Given the description of an element on the screen output the (x, y) to click on. 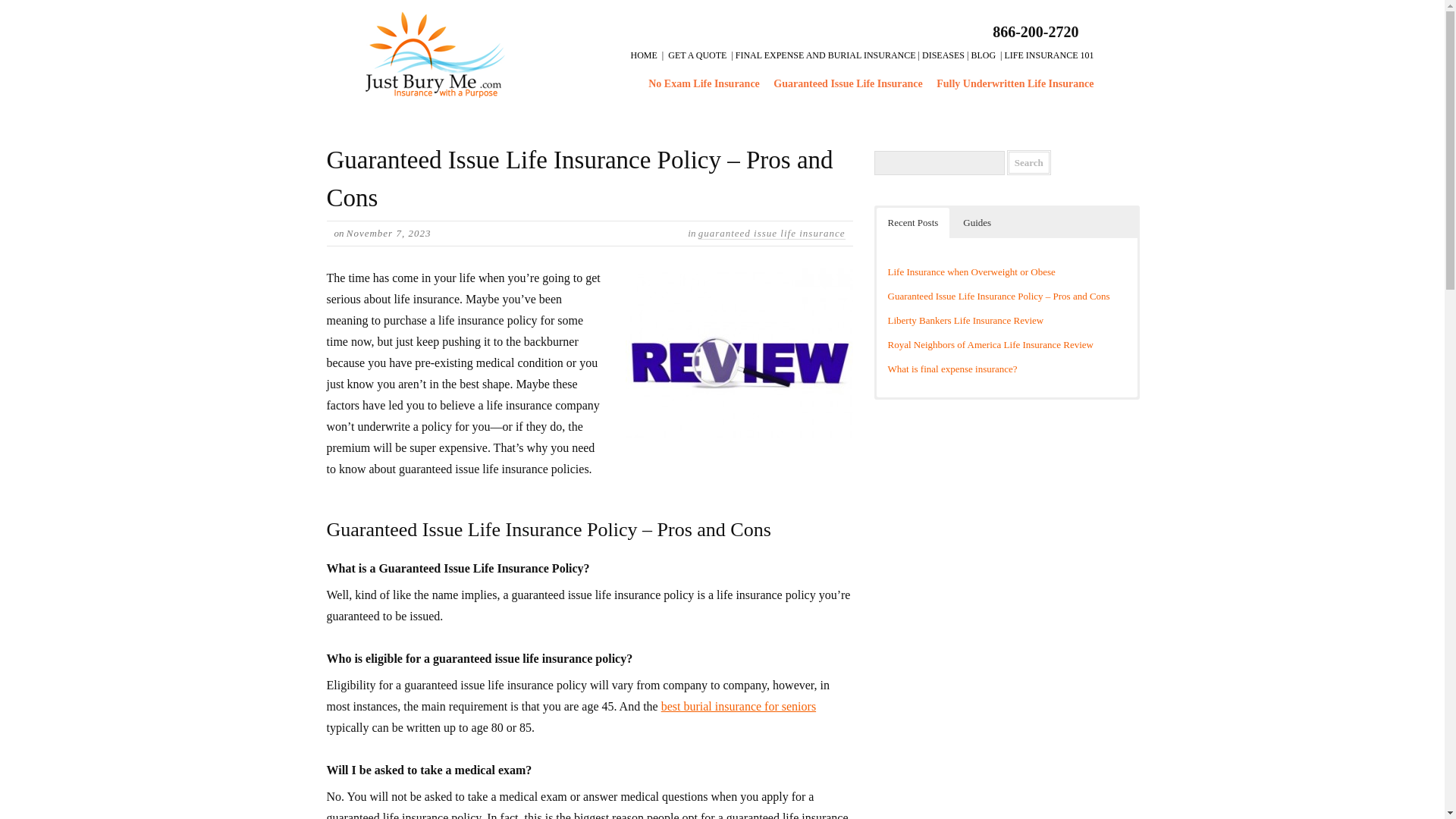
Search (1029, 162)
DISEASES (943, 54)
FINAL EXPENSE AND BURIAL INSURANCE (825, 54)
Royal Neighbors of America Life Insurance Review (989, 344)
No Exam Life Insurance (703, 83)
Fully Underwritten Life Insurance (1014, 83)
2023-11-07 (388, 233)
Liberty Bankers Life Insurance Review (964, 319)
guaranteed issue life insurance (771, 233)
GET A QUOTE (697, 54)
BLOG (983, 54)
HOME (644, 54)
best burial insurance for seniors (738, 706)
What is final expense insurance? (951, 368)
Life Insurance when Overweight or Obese (970, 271)
